Given the description of an element on the screen output the (x, y) to click on. 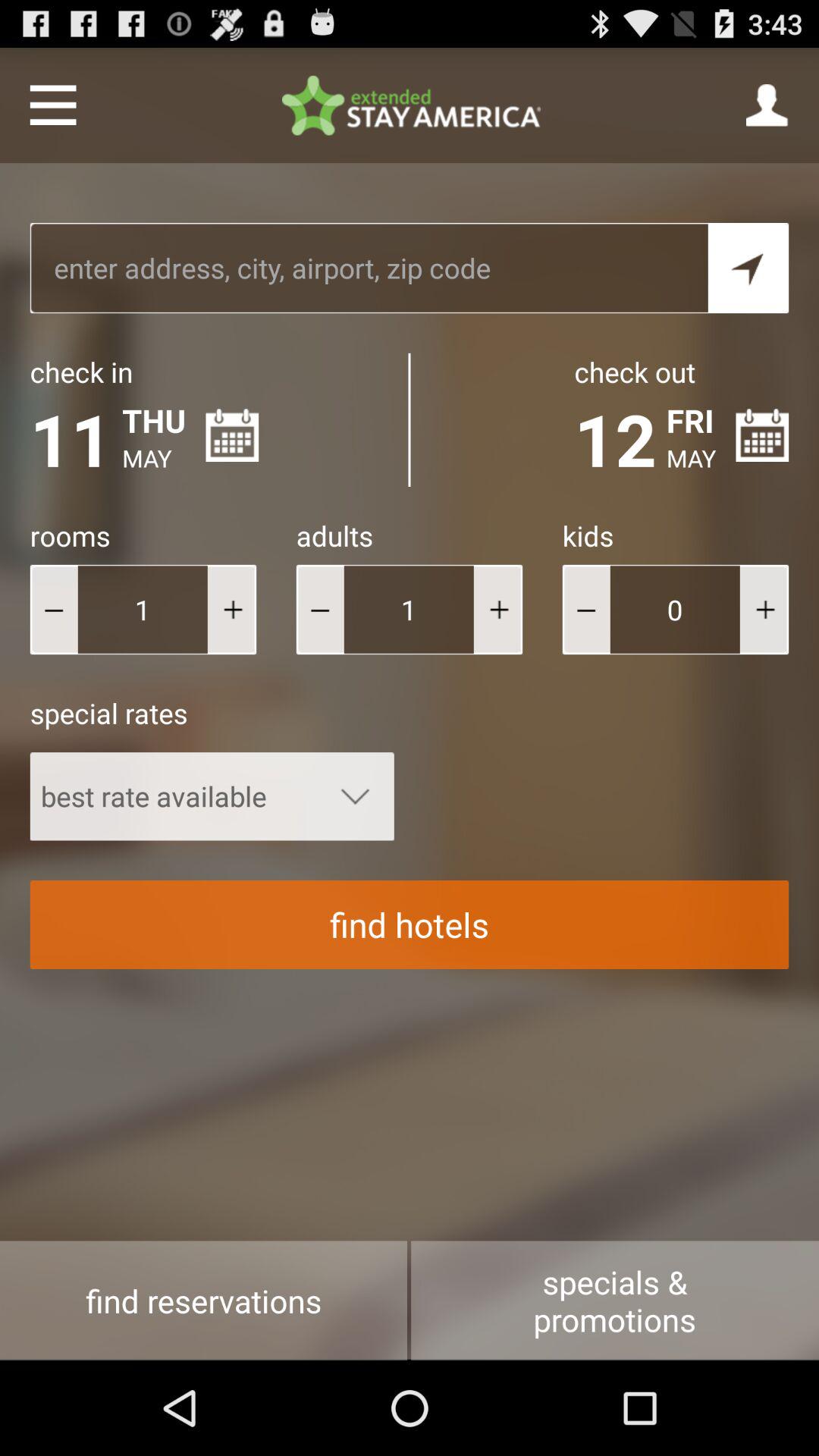
settings (53, 105)
